Given the description of an element on the screen output the (x, y) to click on. 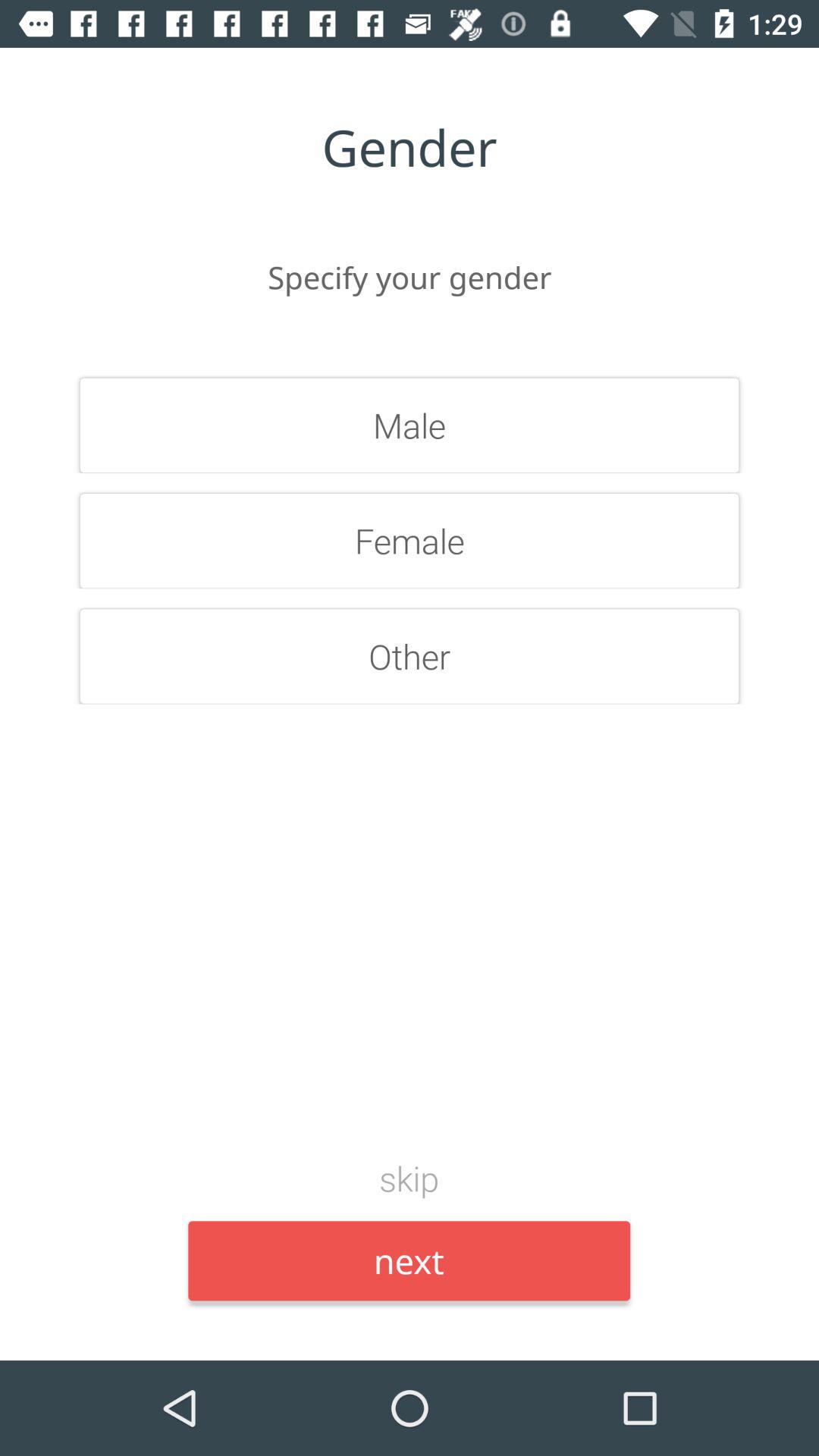
turn on item below the female (409, 656)
